Given the description of an element on the screen output the (x, y) to click on. 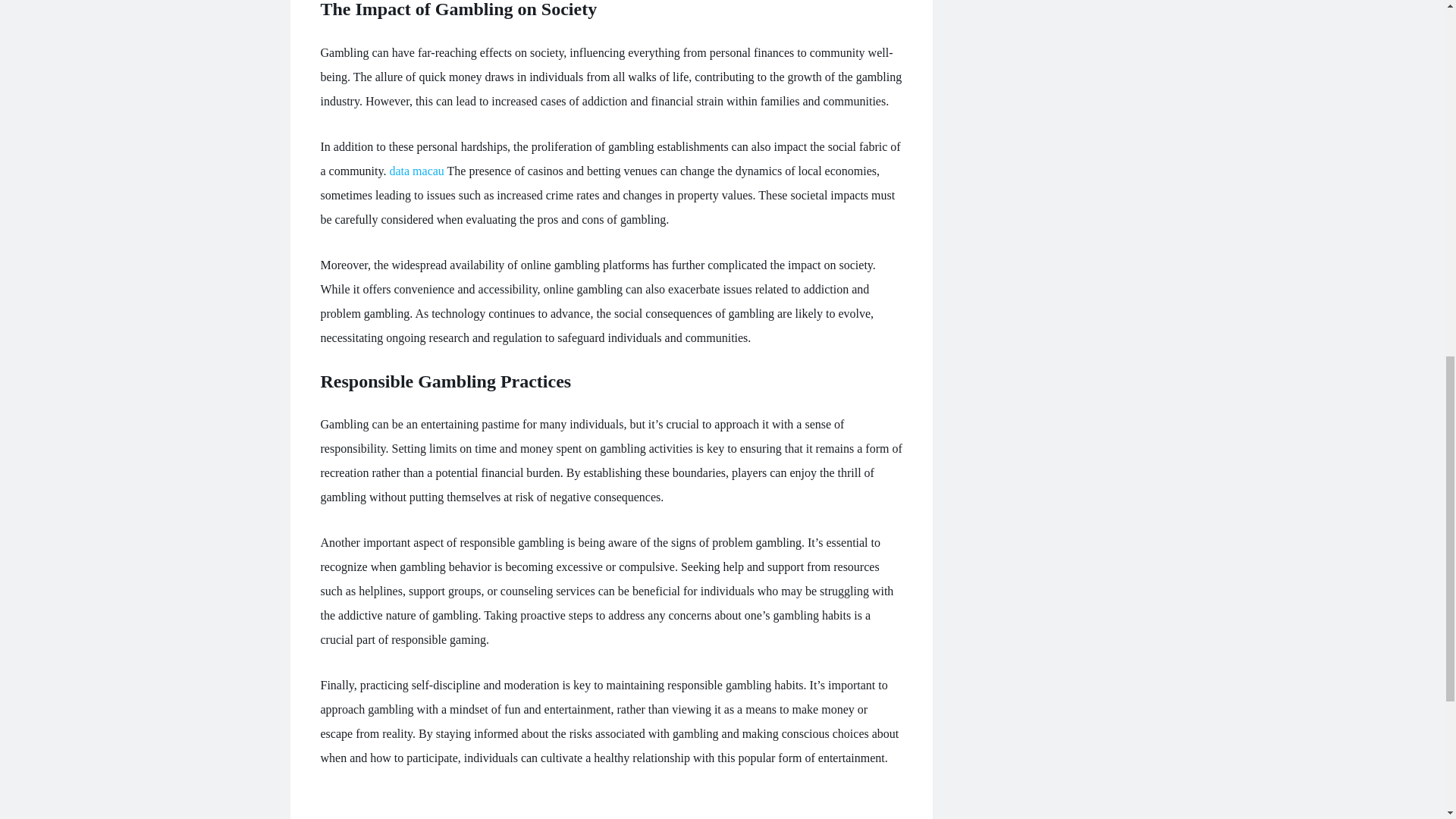
data macau (416, 170)
